Given the description of an element on the screen output the (x, y) to click on. 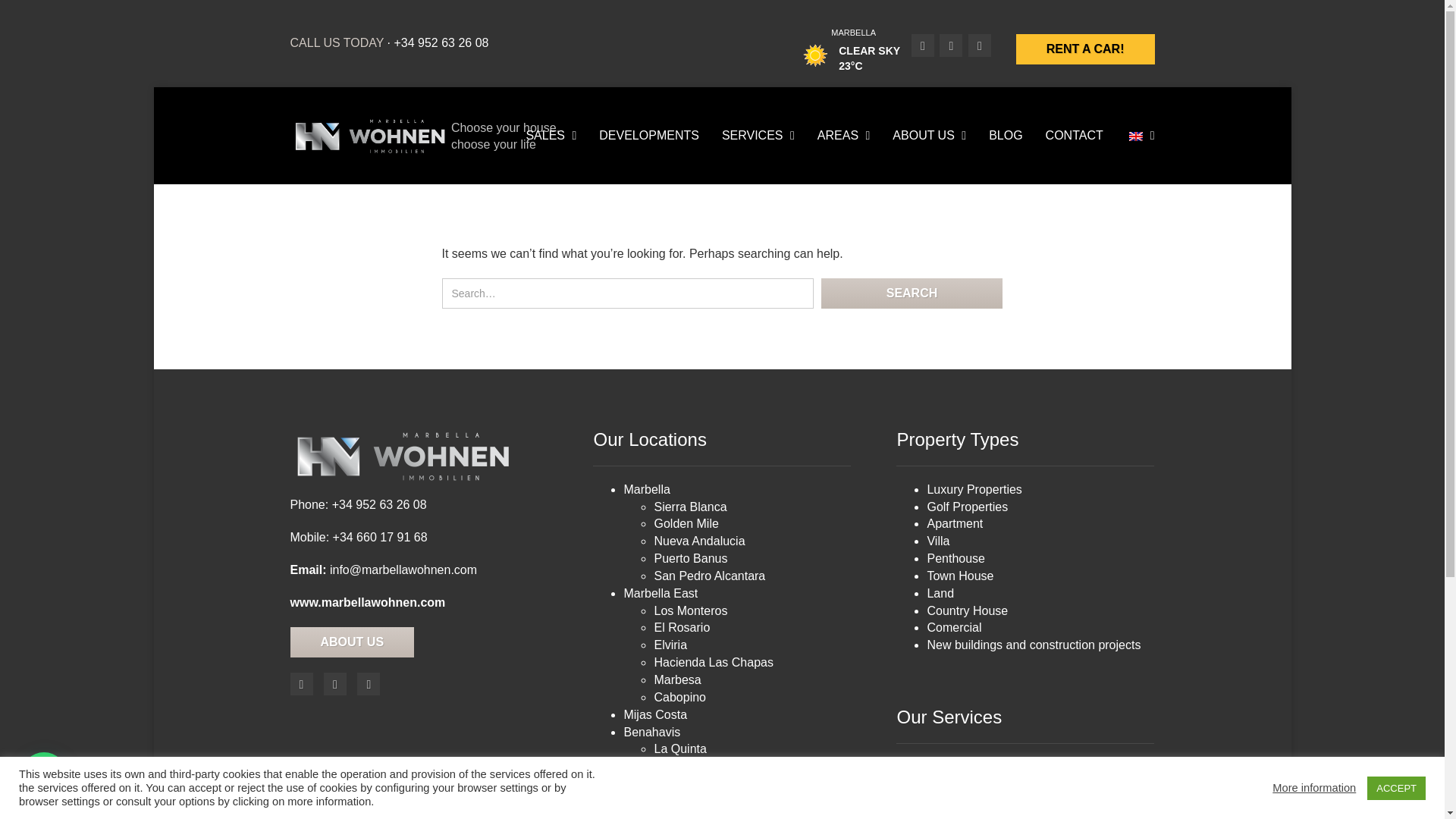
Search (912, 293)
SALES (550, 135)
DEVELOPMENTS (649, 135)
AREAS (844, 135)
SERVICES (758, 135)
RENT A CAR! (1085, 49)
Search (912, 293)
